Given the description of an element on the screen output the (x, y) to click on. 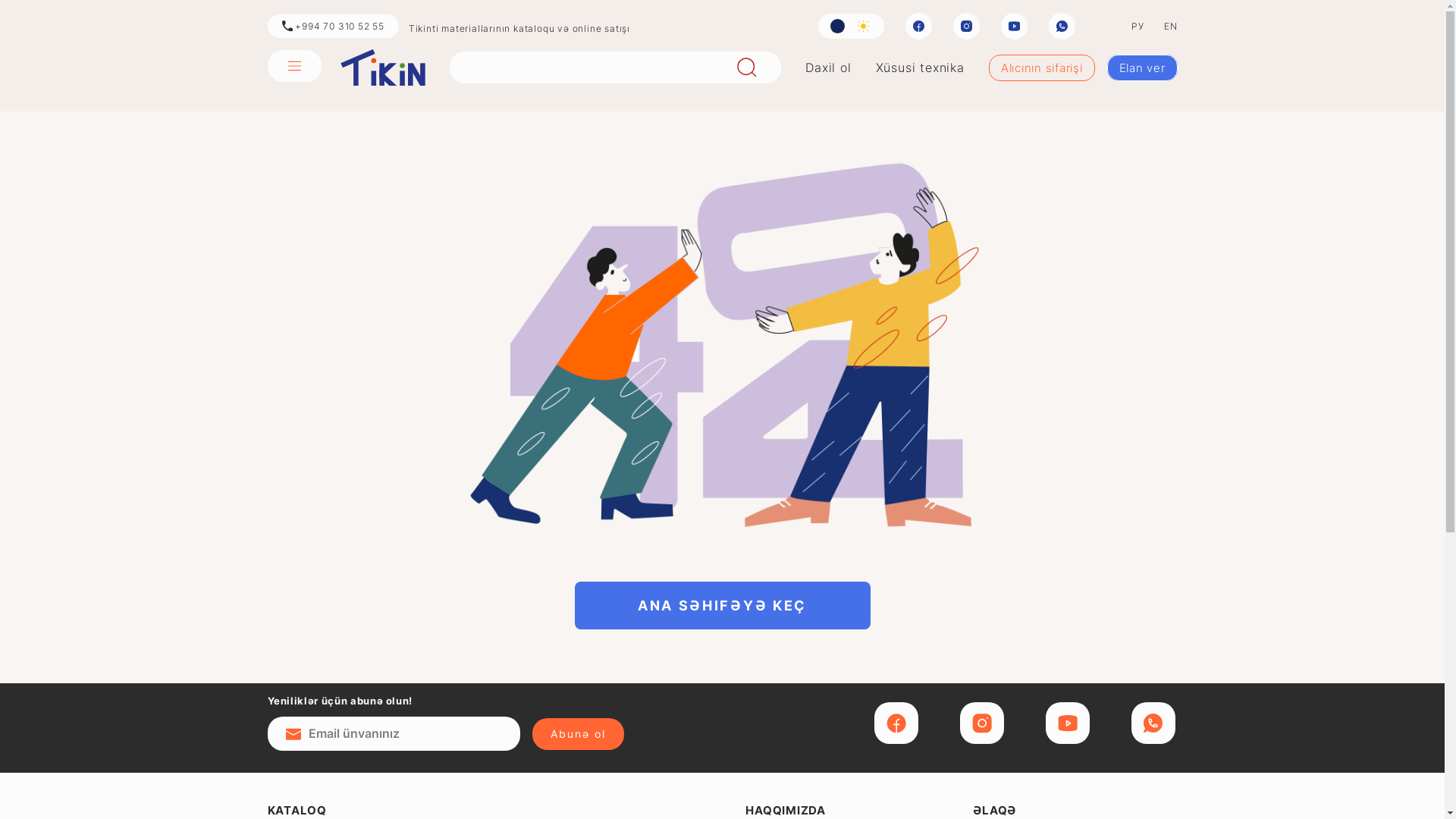
 +994 70 310 52 55 Element type: text (332, 25)
Daxil ol Element type: text (827, 66)
EN Element type: text (1170, 25)
Elan ver Element type: text (1142, 67)
Tikin.az Element type: text (381, 67)
HAQQIMIZDA Element type: text (785, 810)
